Given the description of an element on the screen output the (x, y) to click on. 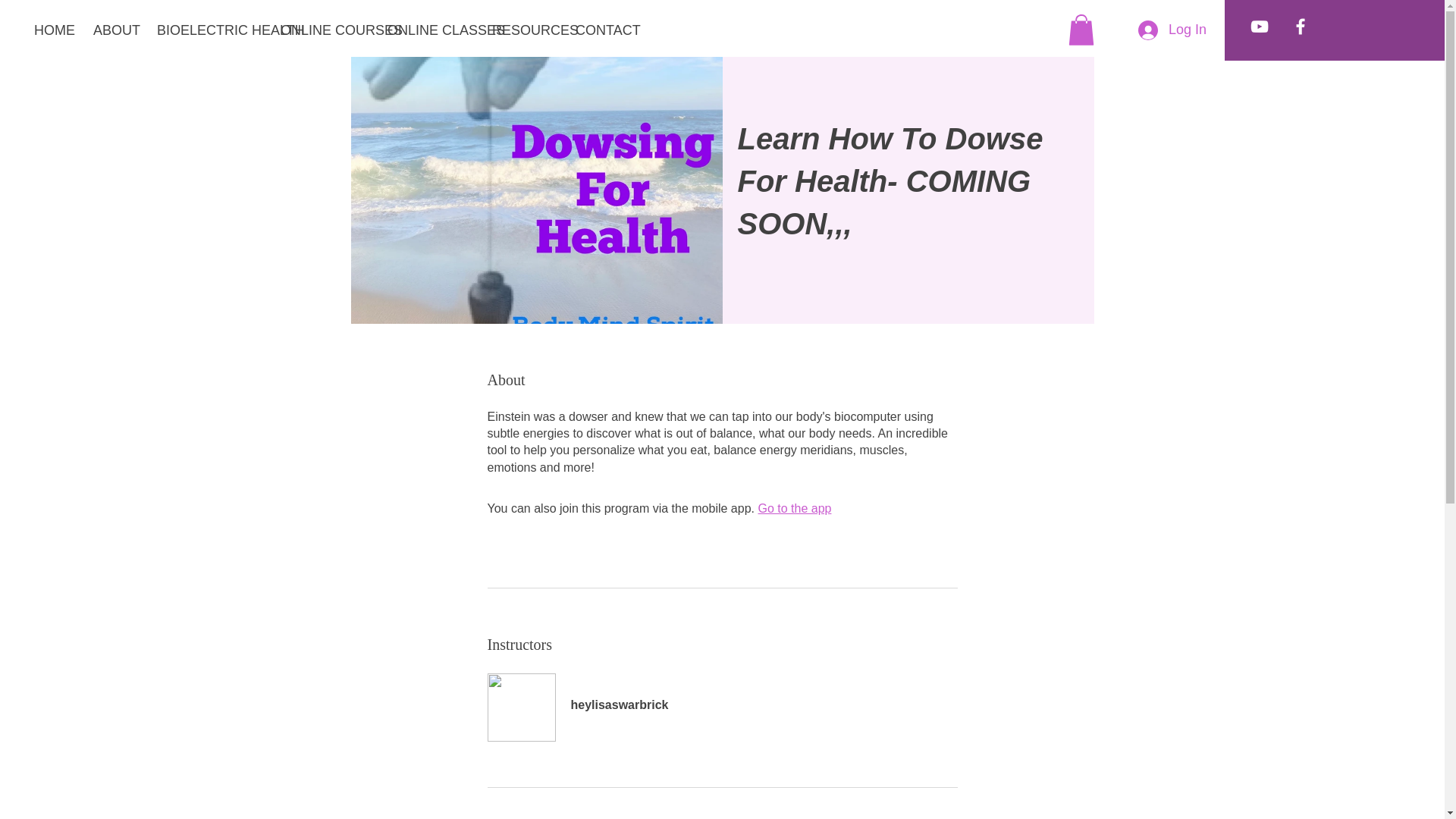
ONLINE COURSES (322, 30)
BIOELECTRIC HEALTH (207, 30)
ONLINE CLASSES (427, 30)
Log In (1171, 30)
ABOUT (113, 30)
HOME (52, 30)
RESOURCES (522, 30)
CONTACT (600, 30)
Go to the app (794, 508)
heylisaswarbrick (721, 696)
